Given the description of an element on the screen output the (x, y) to click on. 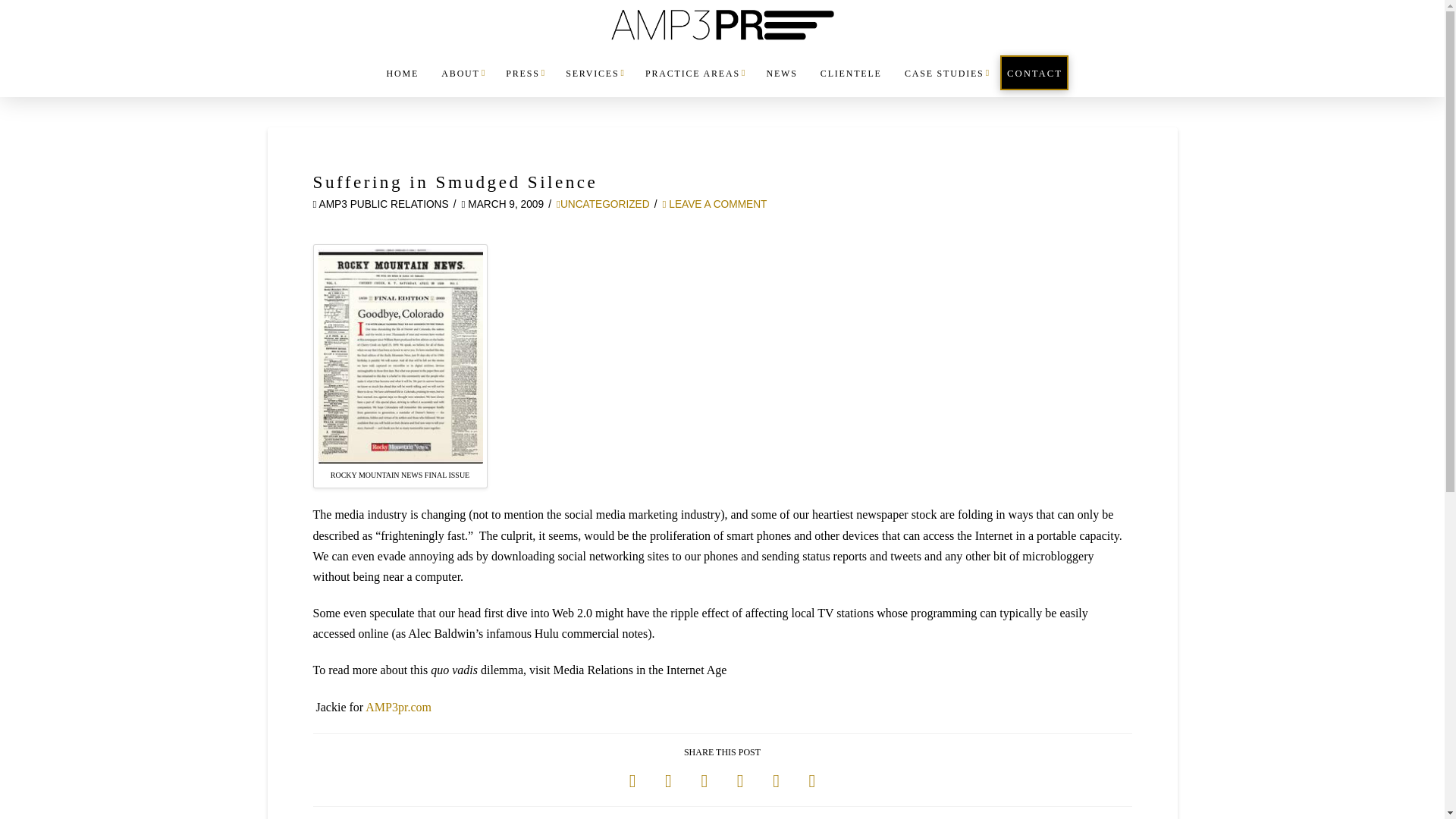
CASE STUDIES (945, 81)
NEWS (780, 81)
Share on LinkedIn (703, 781)
CLIENTELE (849, 81)
ABOUT (461, 81)
HOME (402, 81)
Share on X (667, 781)
PRACTICE AREAS (692, 81)
Share on Facebook (632, 781)
PRESS (523, 81)
